Given the description of an element on the screen output the (x, y) to click on. 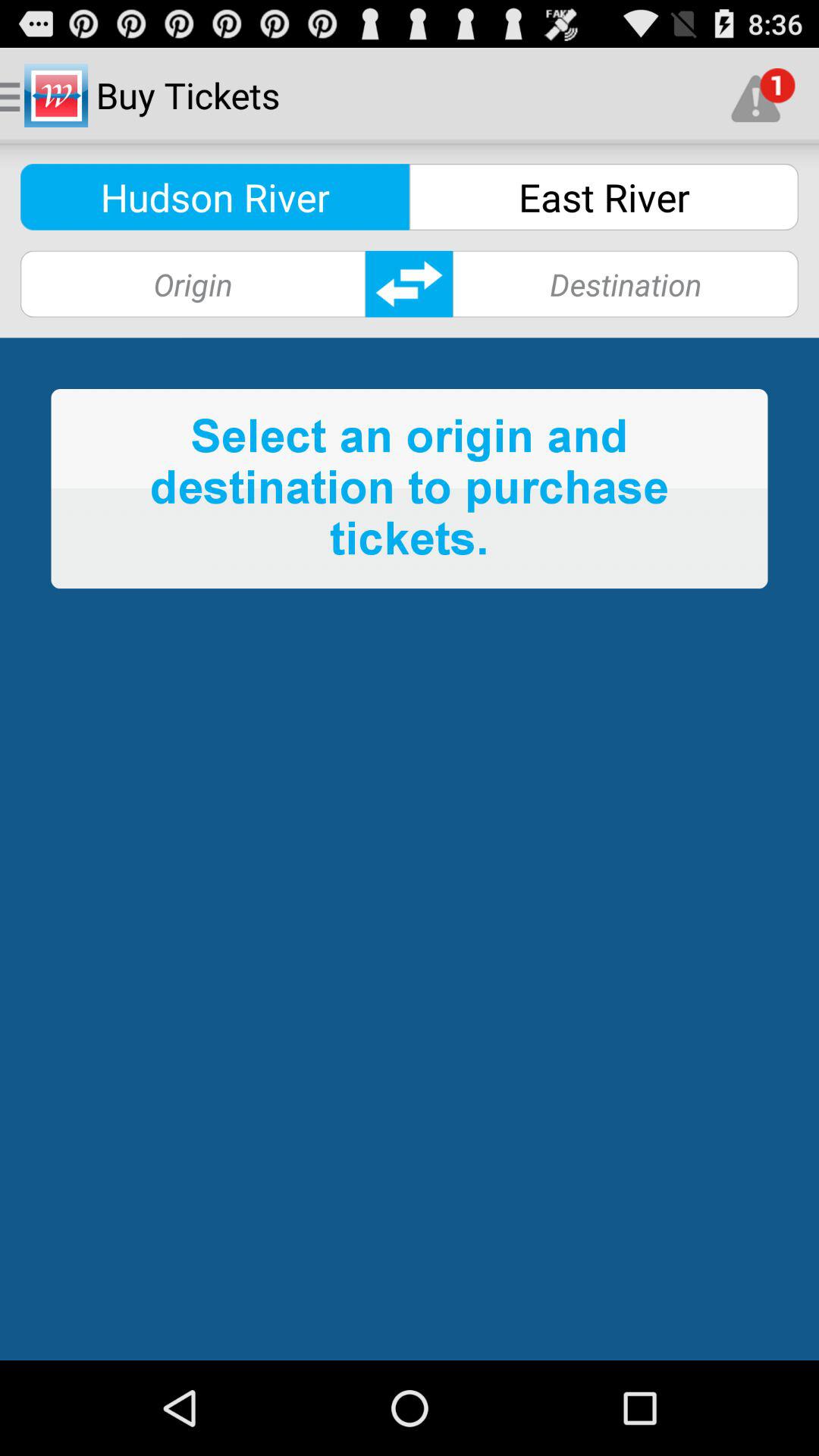
toggle destination information (408, 283)
